Given the description of an element on the screen output the (x, y) to click on. 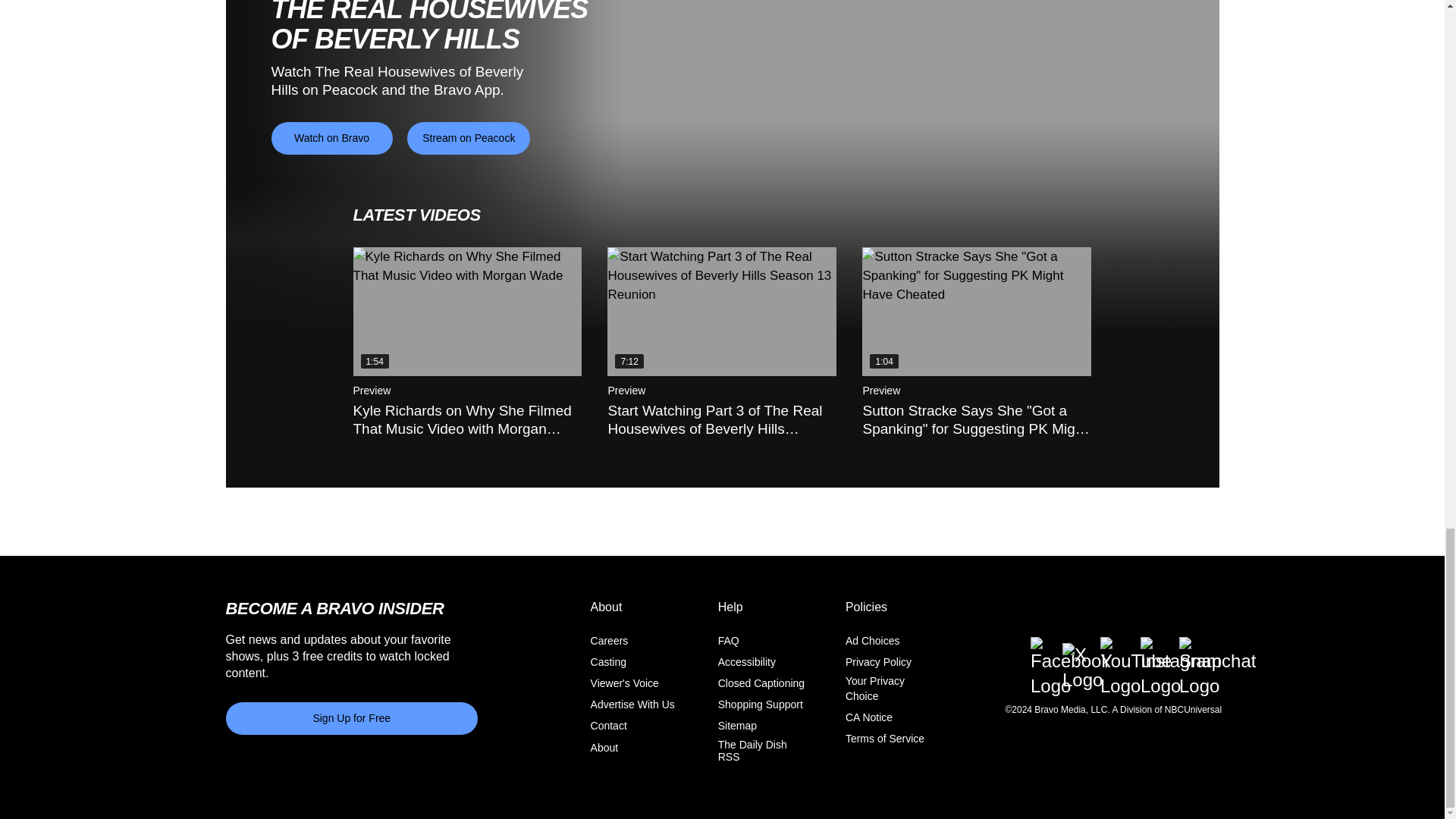
Advertise With Us (633, 704)
